Given the description of an element on the screen output the (x, y) to click on. 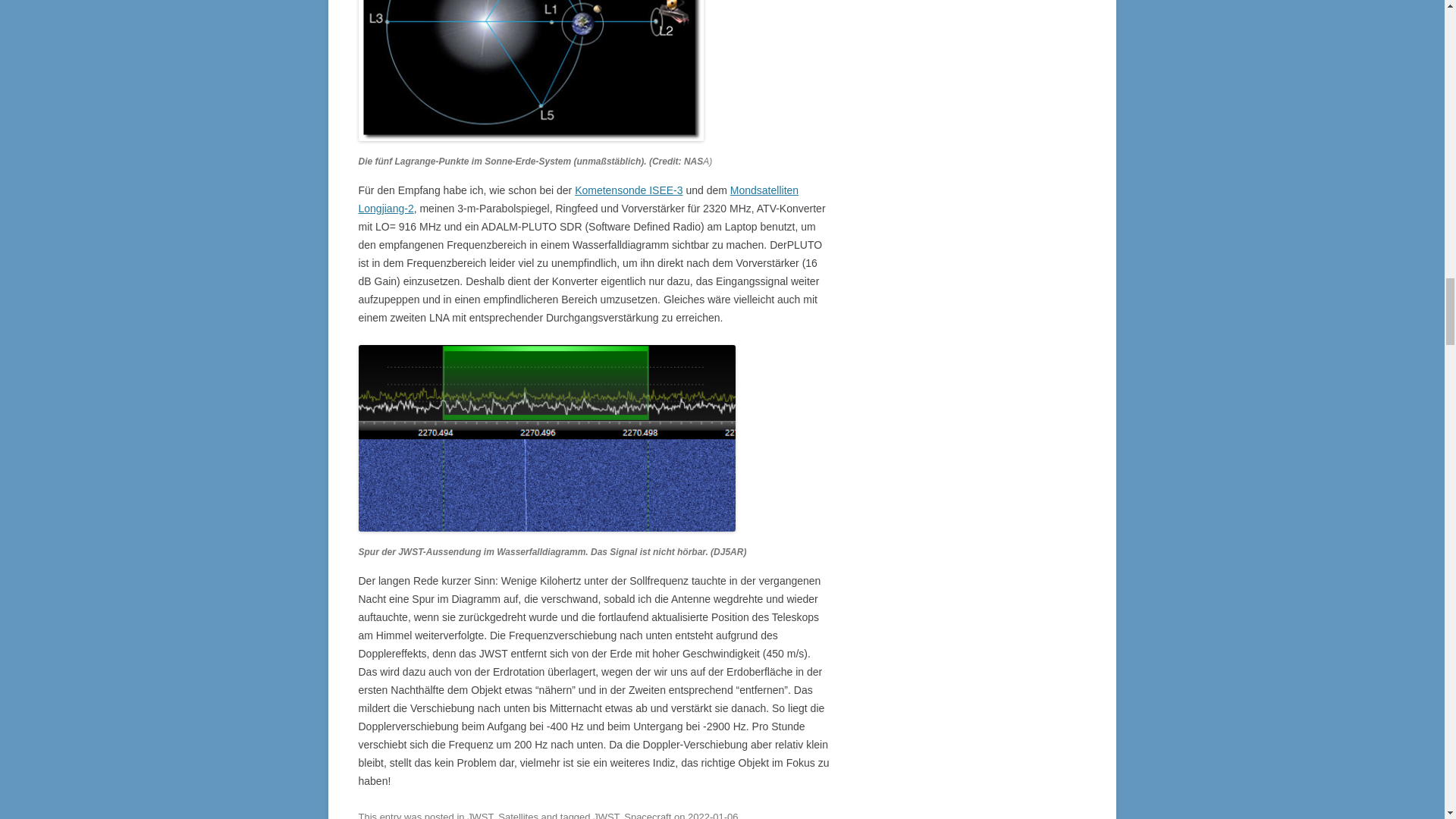
15:38 (712, 815)
